Given the description of an element on the screen output the (x, y) to click on. 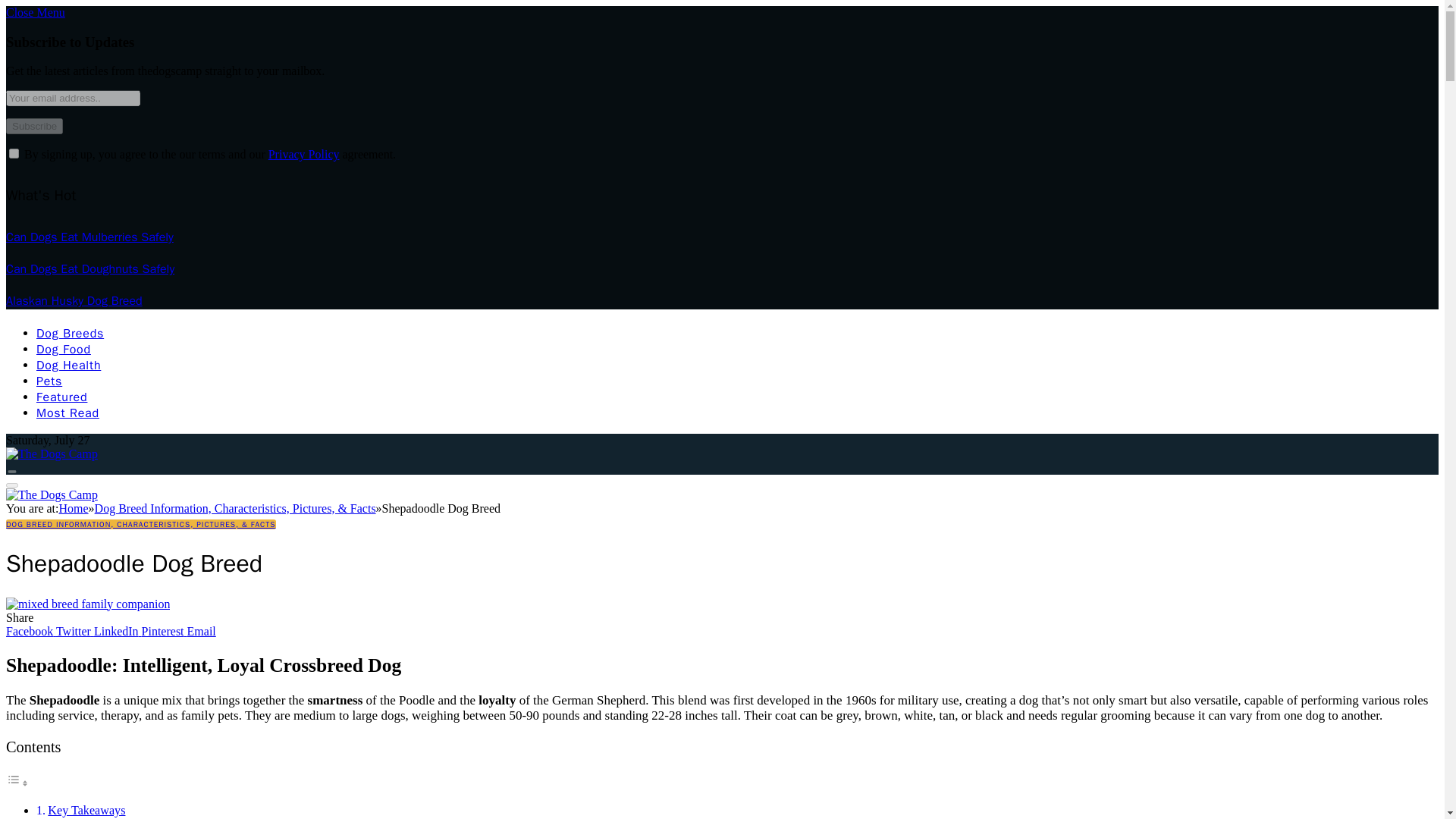
Can Dogs Eat Doughnuts Safely (89, 268)
Privacy Policy (303, 154)
The Dogs Camp (51, 494)
LinkedIn (117, 631)
Shepadoodle Dog Breed (87, 603)
Email (201, 631)
Quick Facts (77, 818)
Facebook (30, 631)
Twitter (75, 631)
on (13, 153)
Most Read (67, 412)
Pinterest (164, 631)
Dog Health (68, 365)
Alaskan Husky Dog Breed (73, 300)
Key Takeaways (86, 809)
